Given the description of an element on the screen output the (x, y) to click on. 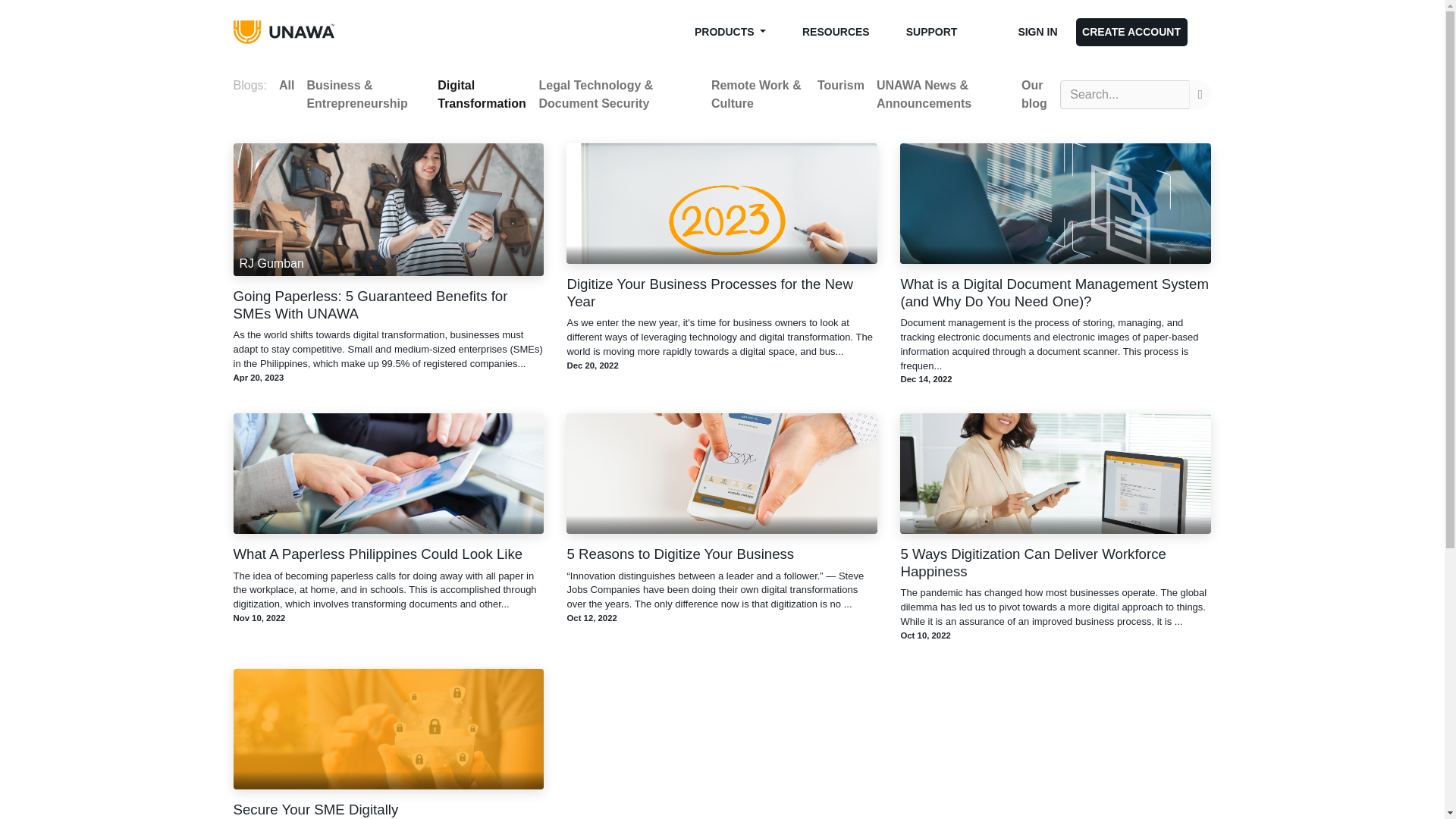
Digitize Your Business Processes for the New Year (721, 293)
Our blog (1036, 94)
SIGN IN (1036, 31)
UNAWA (292, 31)
Tourism (840, 85)
All (286, 85)
PRODUCTS (729, 31)
CREATE ACCOUNT (1130, 31)
SUPPORT (931, 31)
RESOURCES (836, 31)
RJ Gumban (388, 209)
Going Paperless: 5 Guaranteed Benefits for SMEs With UNAWA (388, 305)
Digital Transformation (481, 94)
